Given the description of an element on the screen output the (x, y) to click on. 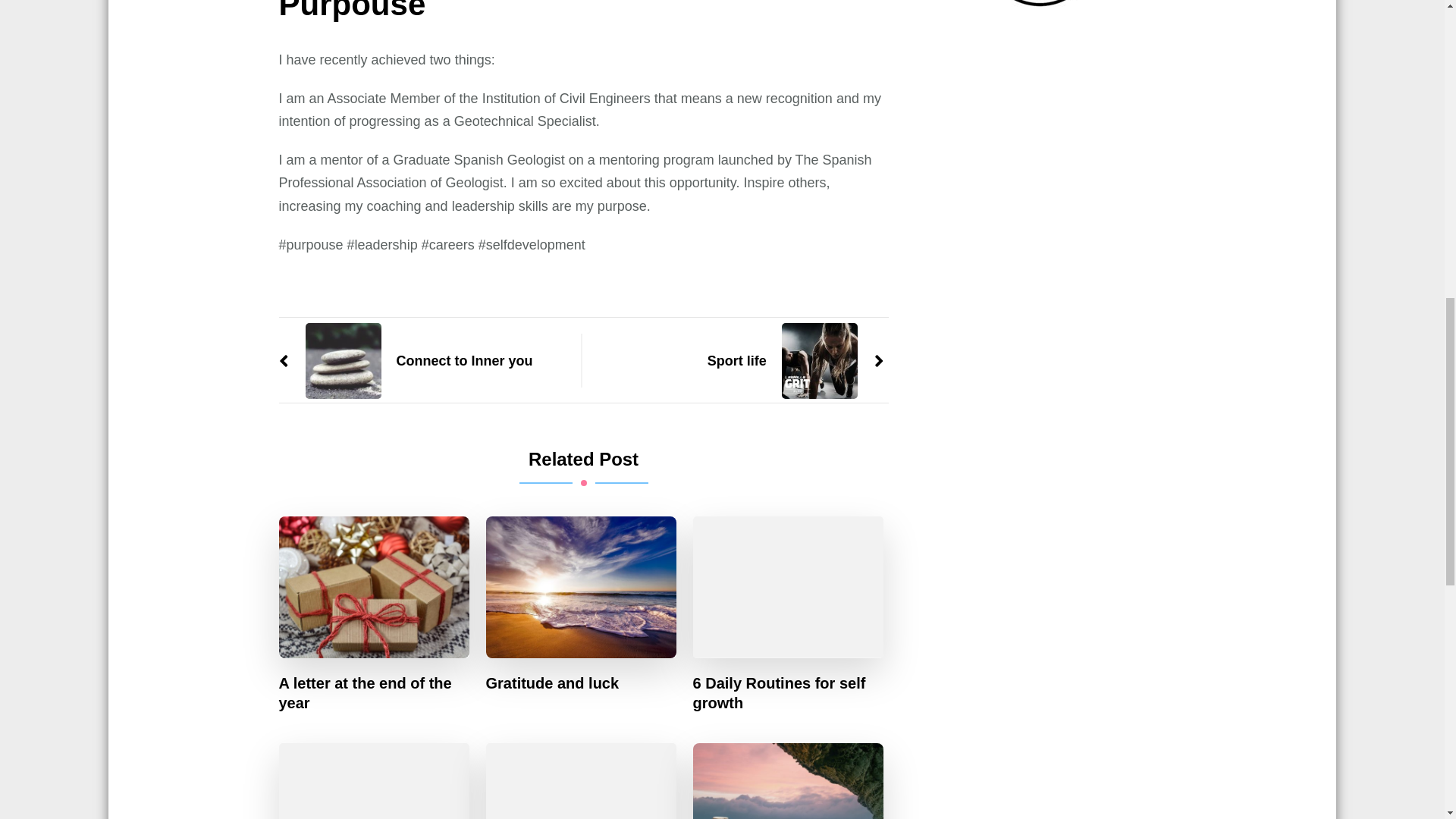
A letter at the end of the year (374, 692)
Sport life (795, 361)
Connect to Inner you (405, 361)
6 Daily Routines for self growth (788, 692)
Gratitude and luck (553, 682)
